Given the description of an element on the screen output the (x, y) to click on. 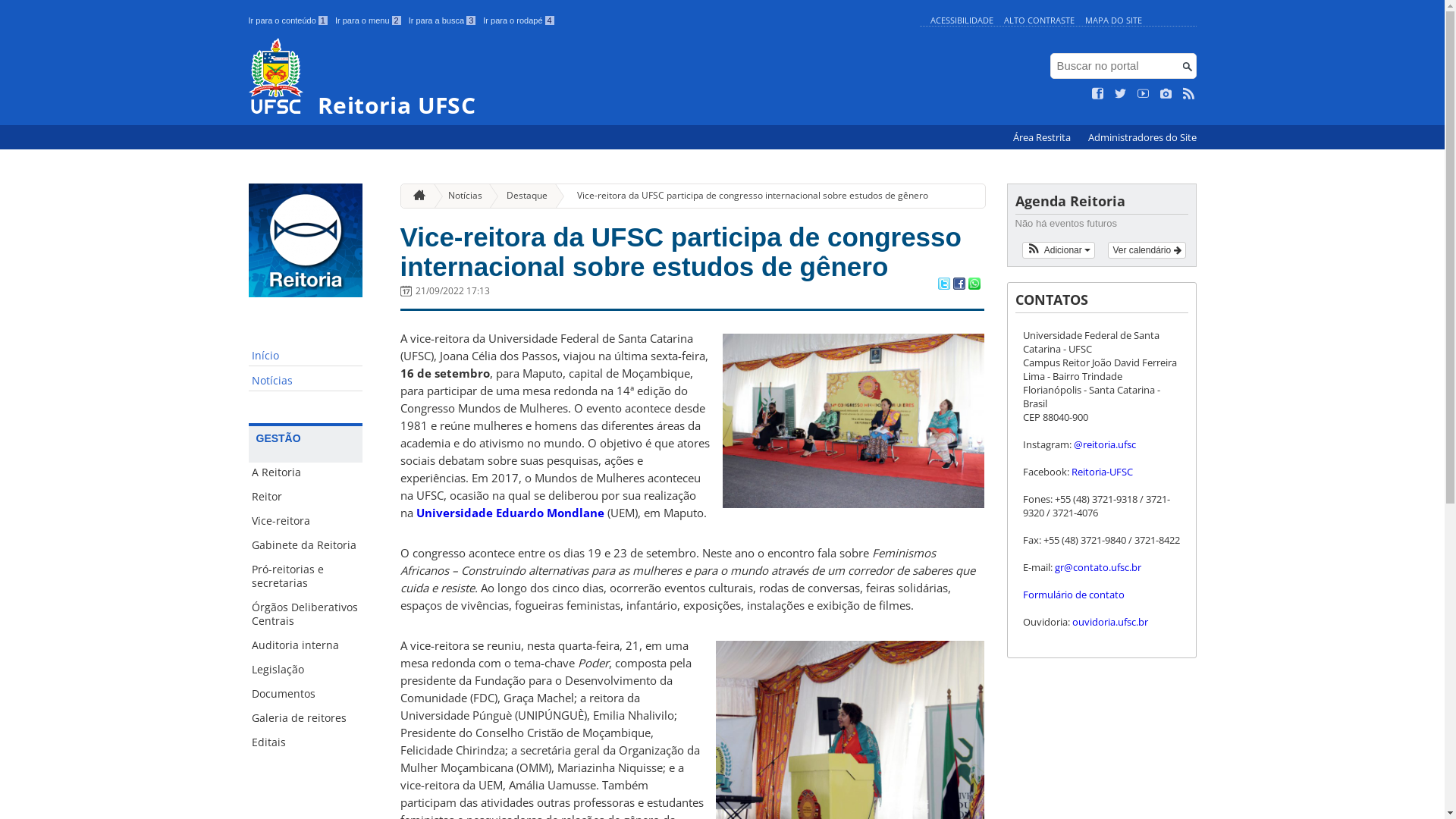
Compartilhar no Facebook Element type: hover (958, 284)
Galeria de reitores Element type: text (305, 718)
MAPA DO SITE Element type: text (1112, 19)
Universidade Eduardo Mondlane Element type: text (509, 512)
Reitor Element type: text (305, 496)
gr@contato.ufsc.br Element type: text (1113, 573)
Gabinete da Reitoria Element type: text (305, 545)
ALTO CONTRASTE Element type: text (1039, 19)
@reitoria.ufsc Element type: text (1104, 444)
Siga no Twitter Element type: hover (1120, 93)
Reitoria-UFSC Element type: text (1101, 471)
Ir para o menu 2 Element type: text (368, 20)
ouvidoria.ufsc.br Element type: text (1110, 621)
Documentos Element type: text (305, 693)
Vice-reitora Element type: text (305, 520)
Auditoria interna Element type: text (305, 645)
Compartilhar no Twitter Element type: hover (943, 284)
Reitoria UFSC Element type: text (580, 77)
Curta no Facebook Element type: hover (1098, 93)
Administradores do Site Element type: text (1141, 137)
Editais Element type: text (305, 742)
Veja no Instagram Element type: hover (1166, 93)
Ir para a busca 3 Element type: text (442, 20)
Destaque Element type: text (520, 195)
ACESSIBILIDADE Element type: text (960, 19)
Compartilhar no WhatsApp Element type: hover (973, 284)
A Reitoria Element type: text (305, 472)
